Given the description of an element on the screen output the (x, y) to click on. 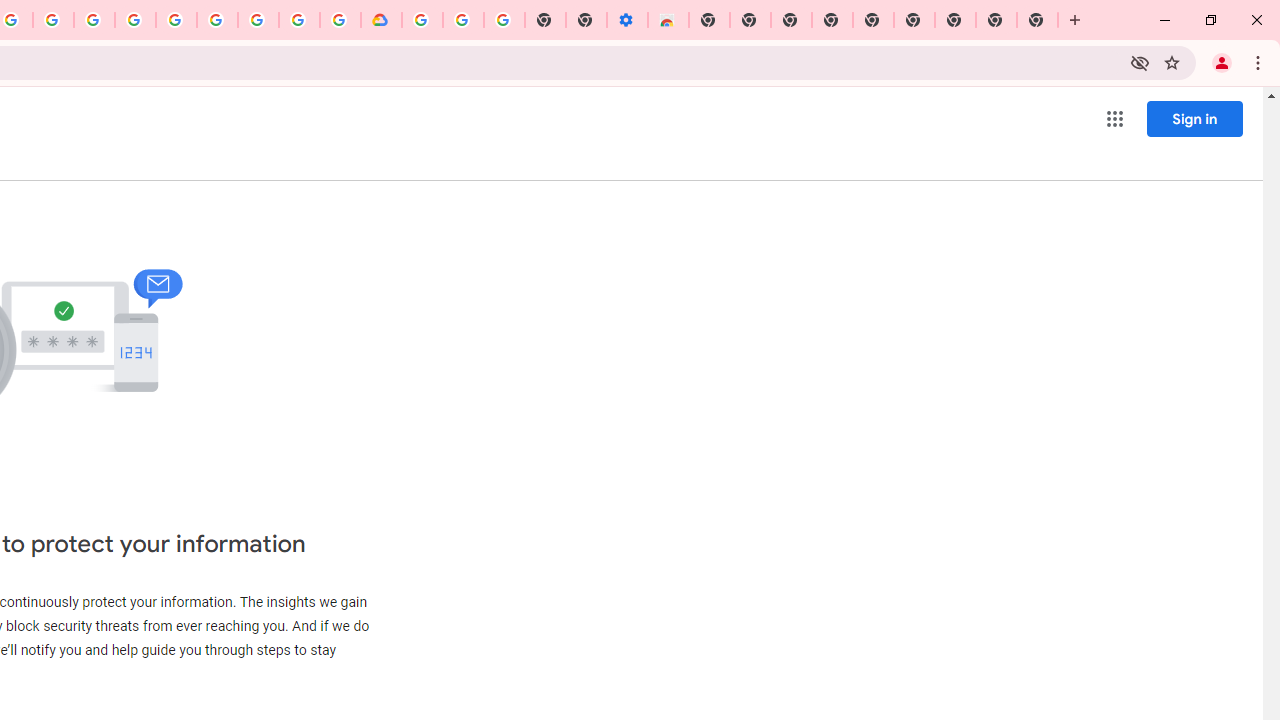
Sign in - Google Accounts (176, 20)
Turn cookies on or off - Computer - Google Account Help (503, 20)
Settings - Accessibility (626, 20)
Create your Google Account (299, 20)
Chrome Web Store - Accessibility extensions (667, 20)
Browse the Google Chrome Community - Google Chrome Community (340, 20)
New Tab (708, 20)
New Tab (1037, 20)
